Given the description of an element on the screen output the (x, y) to click on. 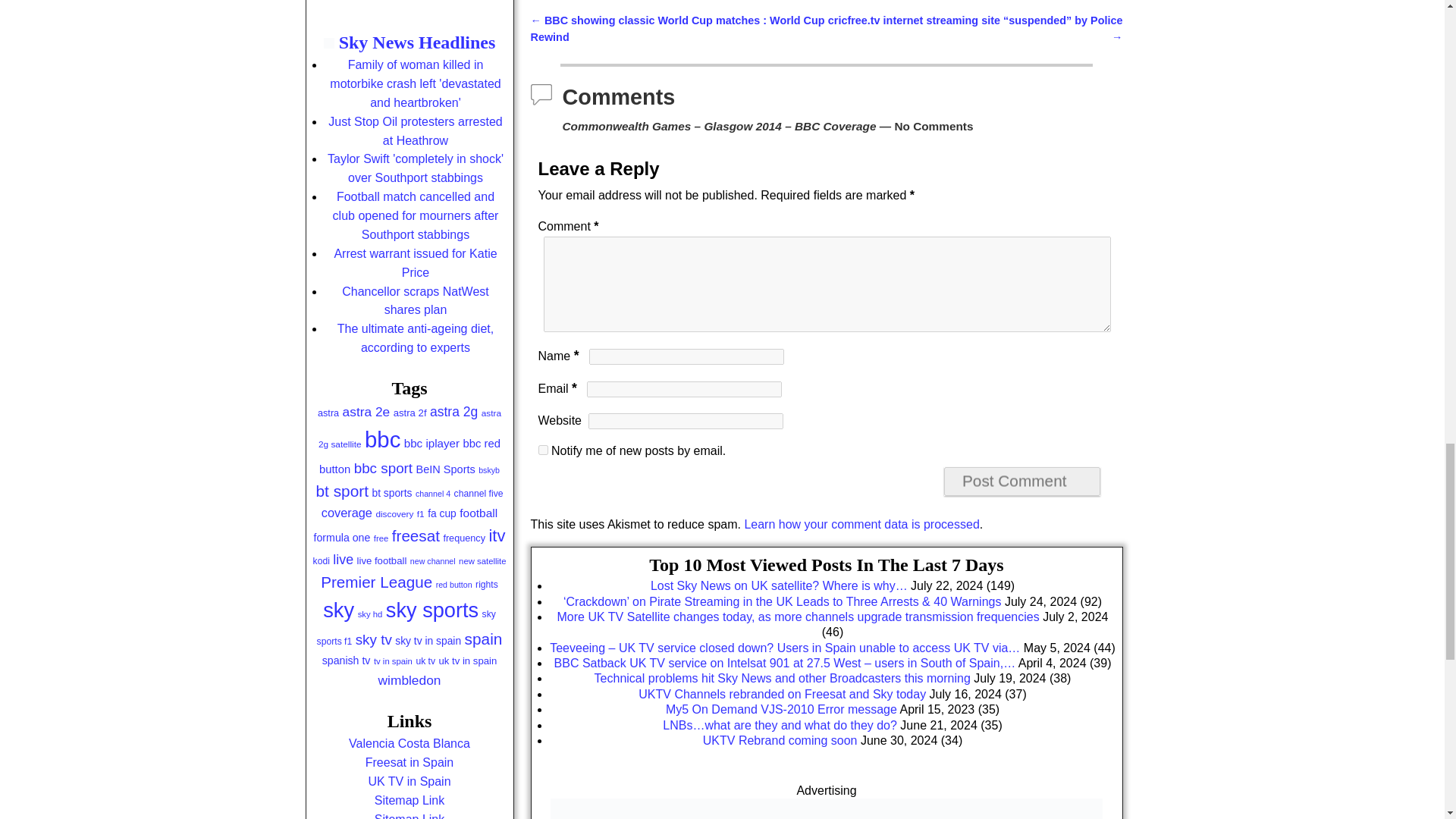
subscribe (543, 450)
Smart DNS Proxy Services (826, 808)
Post Comment (1021, 481)
